Given the description of an element on the screen output the (x, y) to click on. 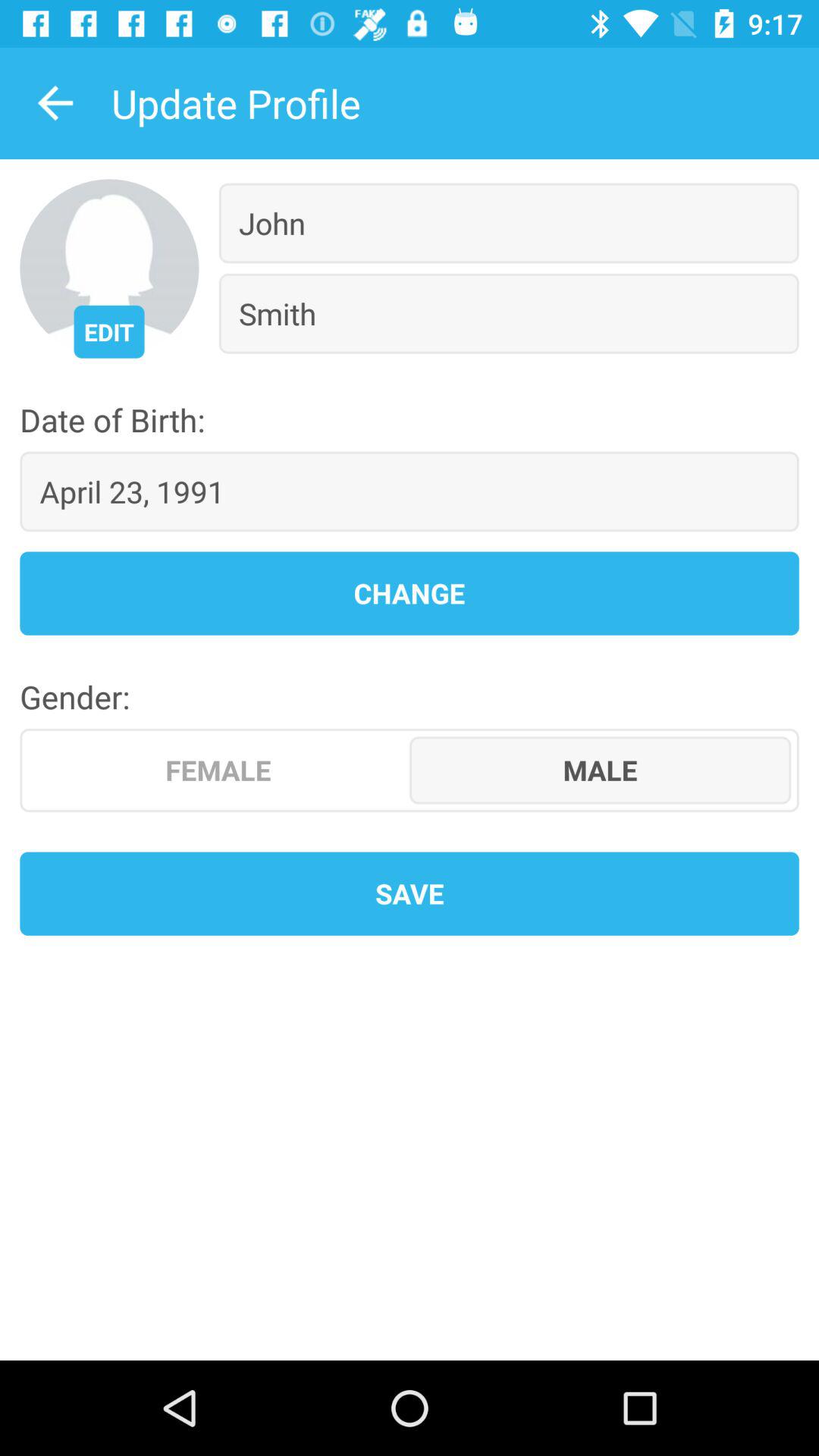
choose the smith item (508, 313)
